Given the description of an element on the screen output the (x, y) to click on. 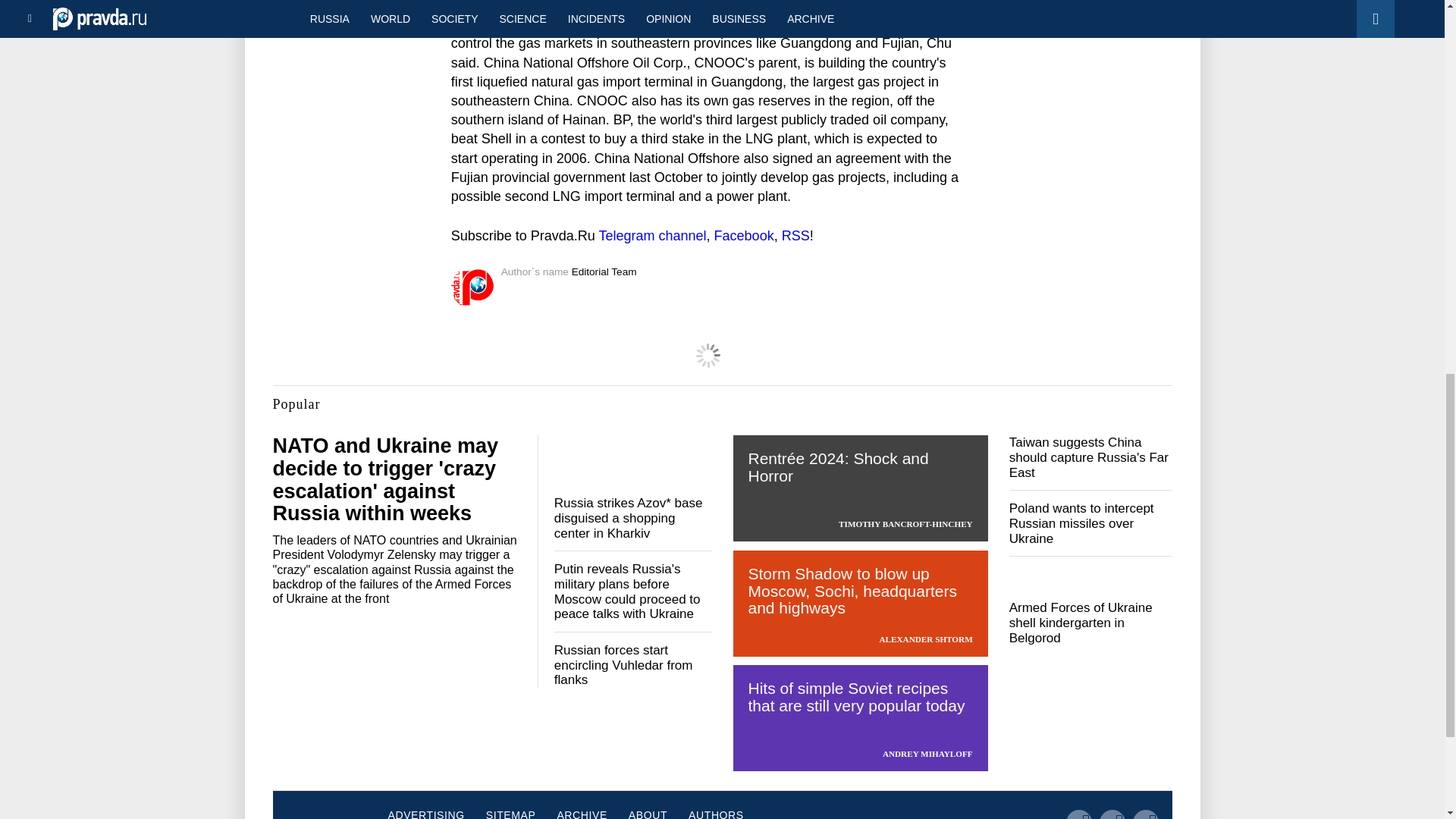
Editorial Team (604, 271)
Telegram channel (652, 235)
Facebook (744, 235)
Back to top (1418, 79)
RSS (795, 235)
